Given the description of an element on the screen output the (x, y) to click on. 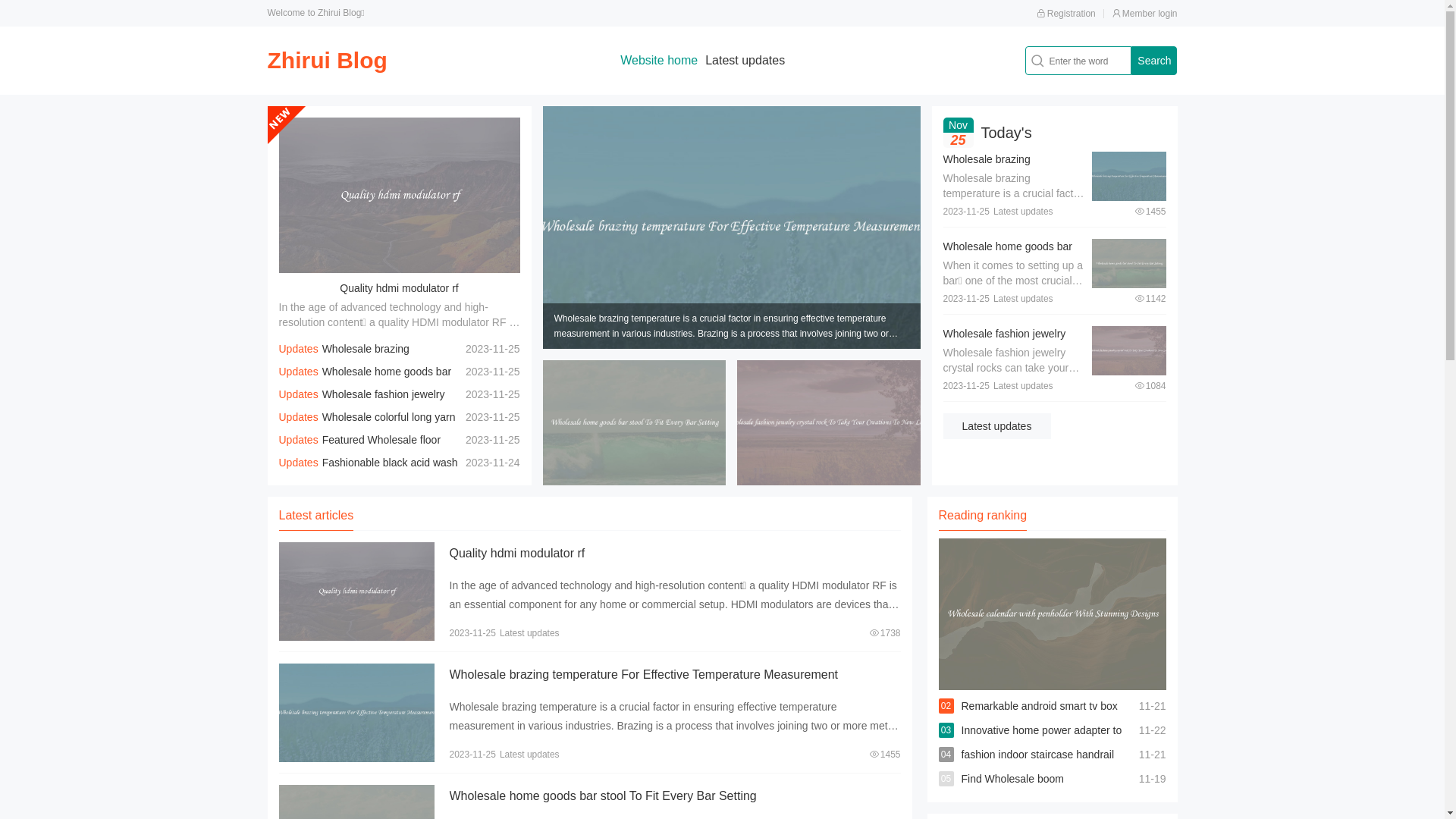
Wholesale home goods bar stool To Fit Every Bar Setting Element type: text (602, 795)
fashion indoor staircase handrail Rot Proof And Elegant Element type: text (1037, 766)
Member login Element type: text (1144, 13)
Innovative home power adapter to Keep Devices Powered Element type: text (1041, 742)
Fashionable black acid wash jacket For Comfort And Style Element type: text (368, 473)
Wholesale home goods bar stool To Fit Every Bar Setting Element type: text (1011, 253)
Quality hdmi modulator rf Element type: text (398, 288)
Find Wholesale boom manufacturers Items Your Business Needs Element type: text (1061, 790)
Zhirui Blog Element type: text (326, 59)
Featured Wholesale floor tees For Any Piping Needs Element type: text (360, 450)
Website home Element type: text (658, 59)
Latest updates Element type: text (744, 59)
Wholesale home goods bar stool To Fit Every Bar Setting Element type: text (365, 382)
Search Element type: text (1153, 60)
Registration Element type: text (1065, 13)
Latest updates Element type: text (997, 426)
Quality hdmi modulator rf Element type: text (516, 552)
